Given the description of an element on the screen output the (x, y) to click on. 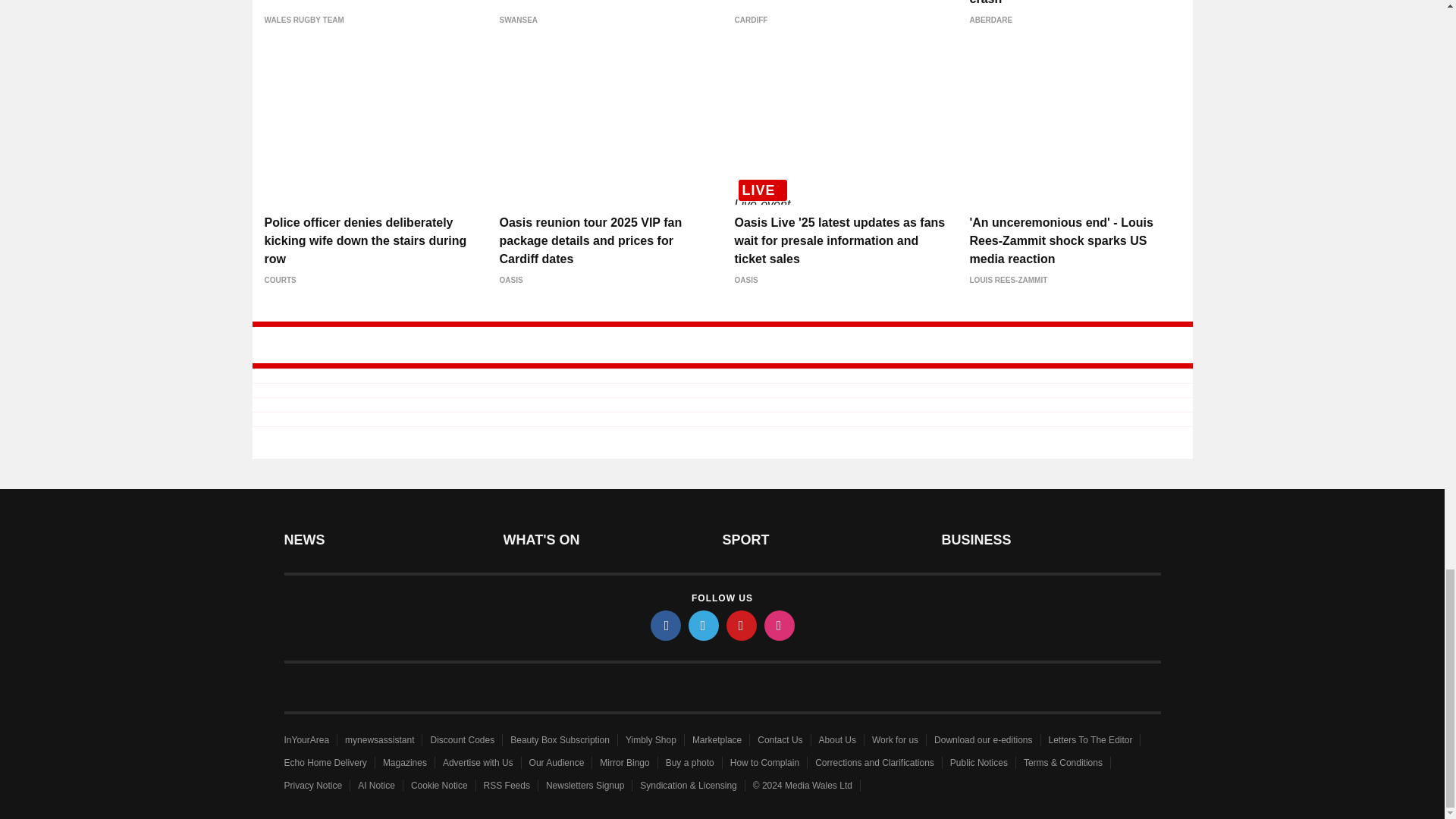
pinterest (741, 625)
facebook (665, 625)
instagram (779, 625)
twitter (703, 625)
